Given the description of an element on the screen output the (x, y) to click on. 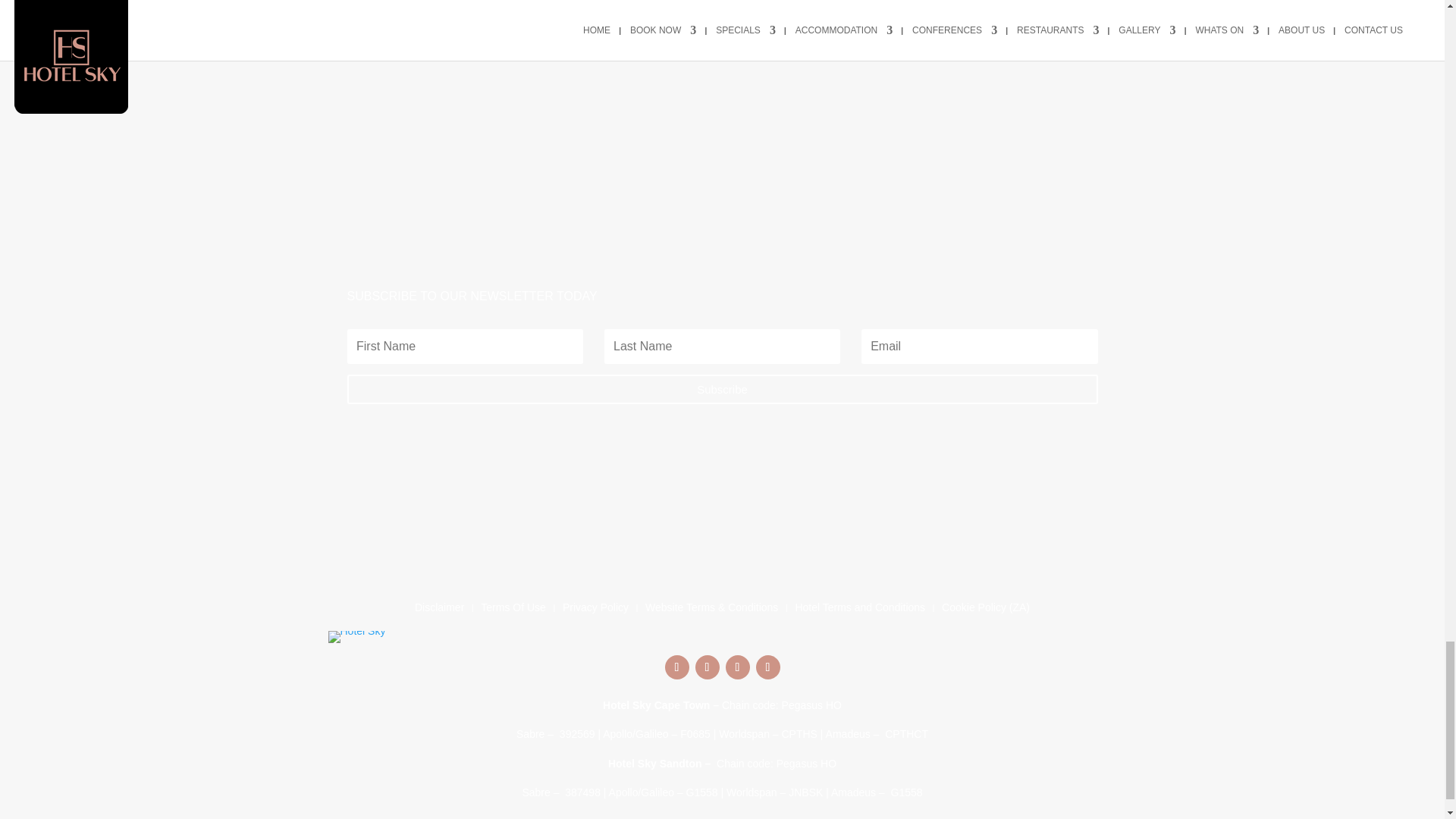
Follow on X (737, 667)
Follow on Facebook (675, 667)
Follow on LinkedIn (766, 667)
Follow on Instagram (706, 667)
